Given the description of an element on the screen output the (x, y) to click on. 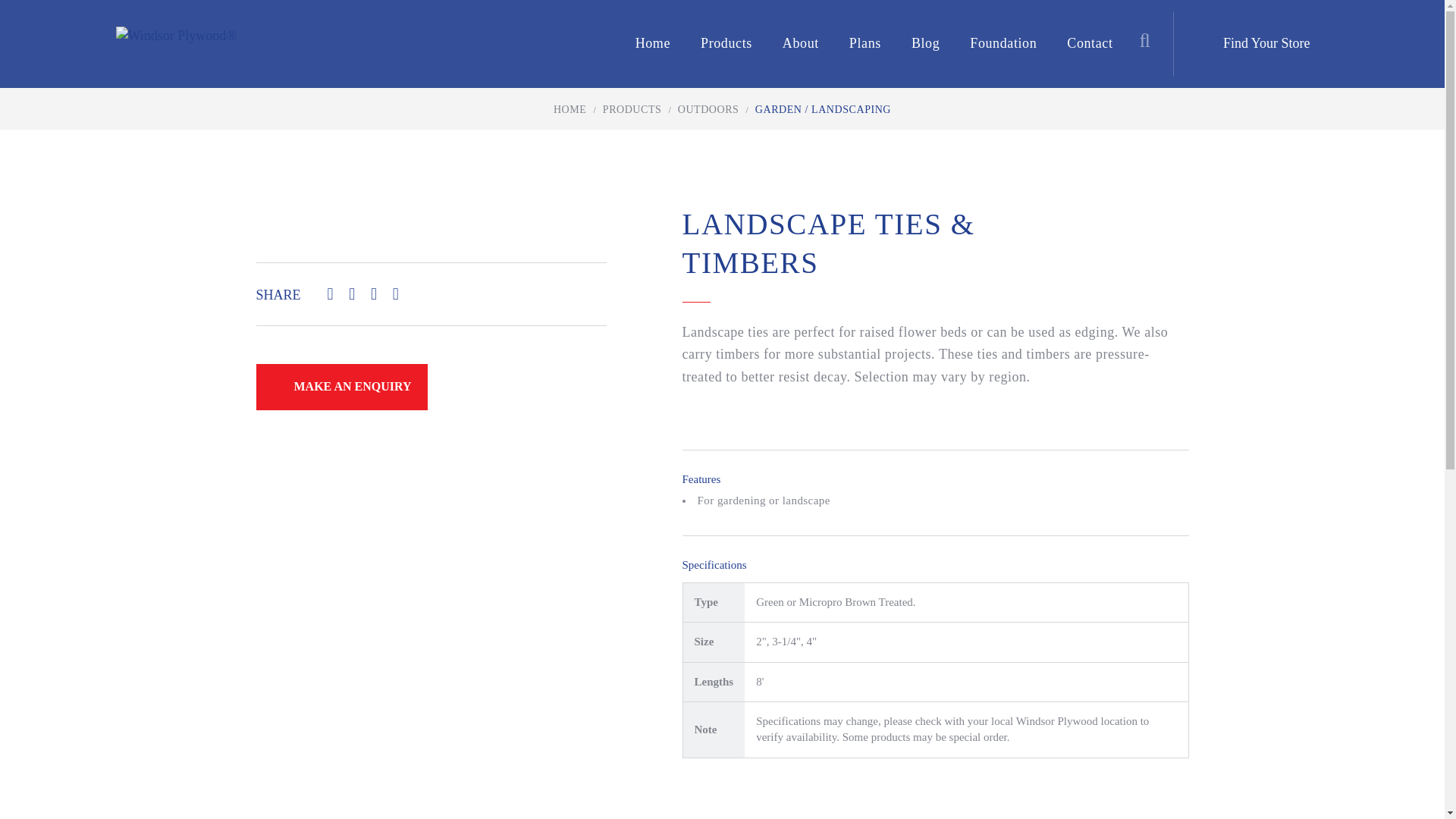
Find Your Store (1266, 43)
Foundation (1002, 43)
